Given the description of an element on the screen output the (x, y) to click on. 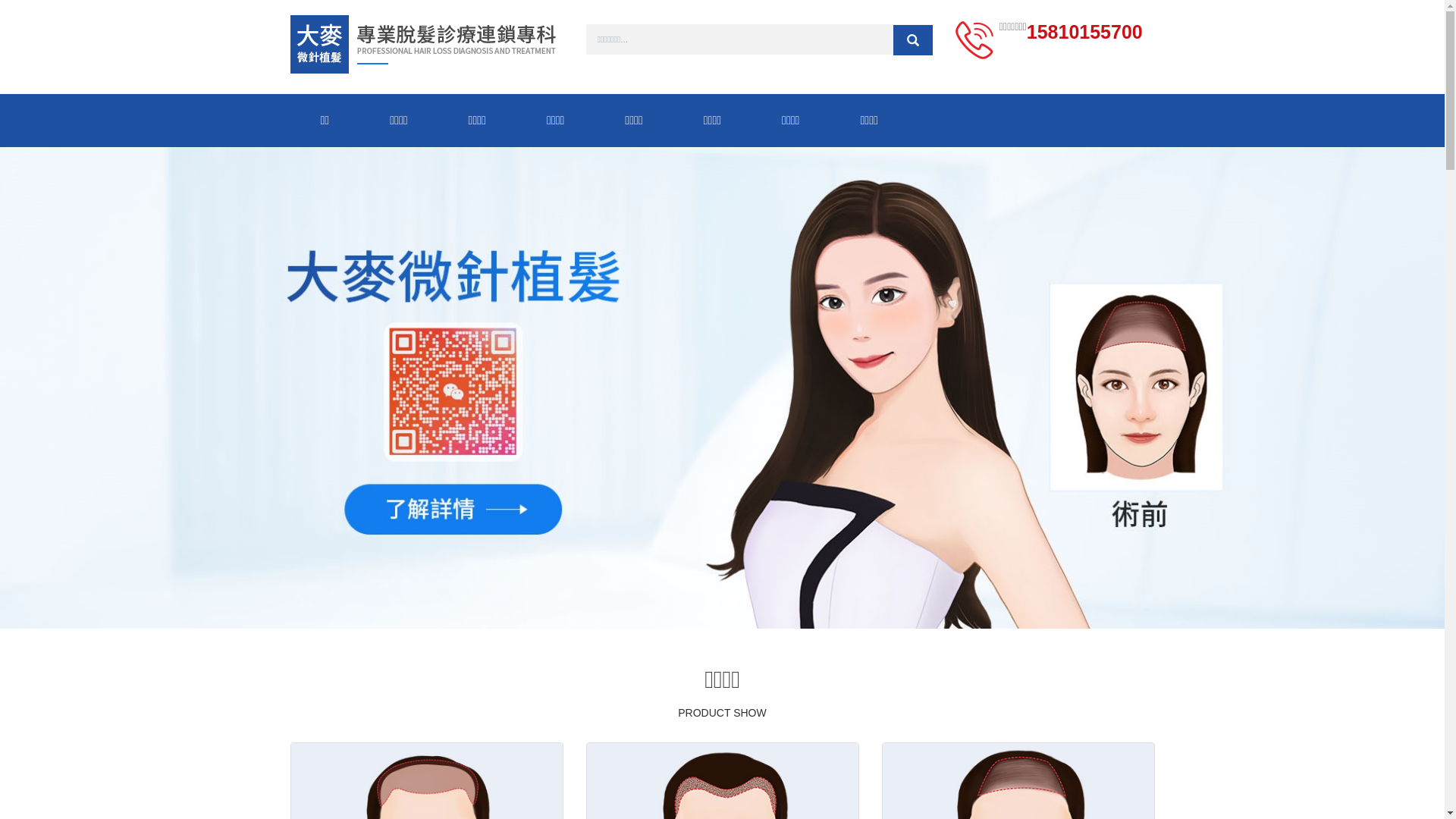
2 Element type: text (731, 601)
1 Element type: text (713, 601)
